Given the description of an element on the screen output the (x, y) to click on. 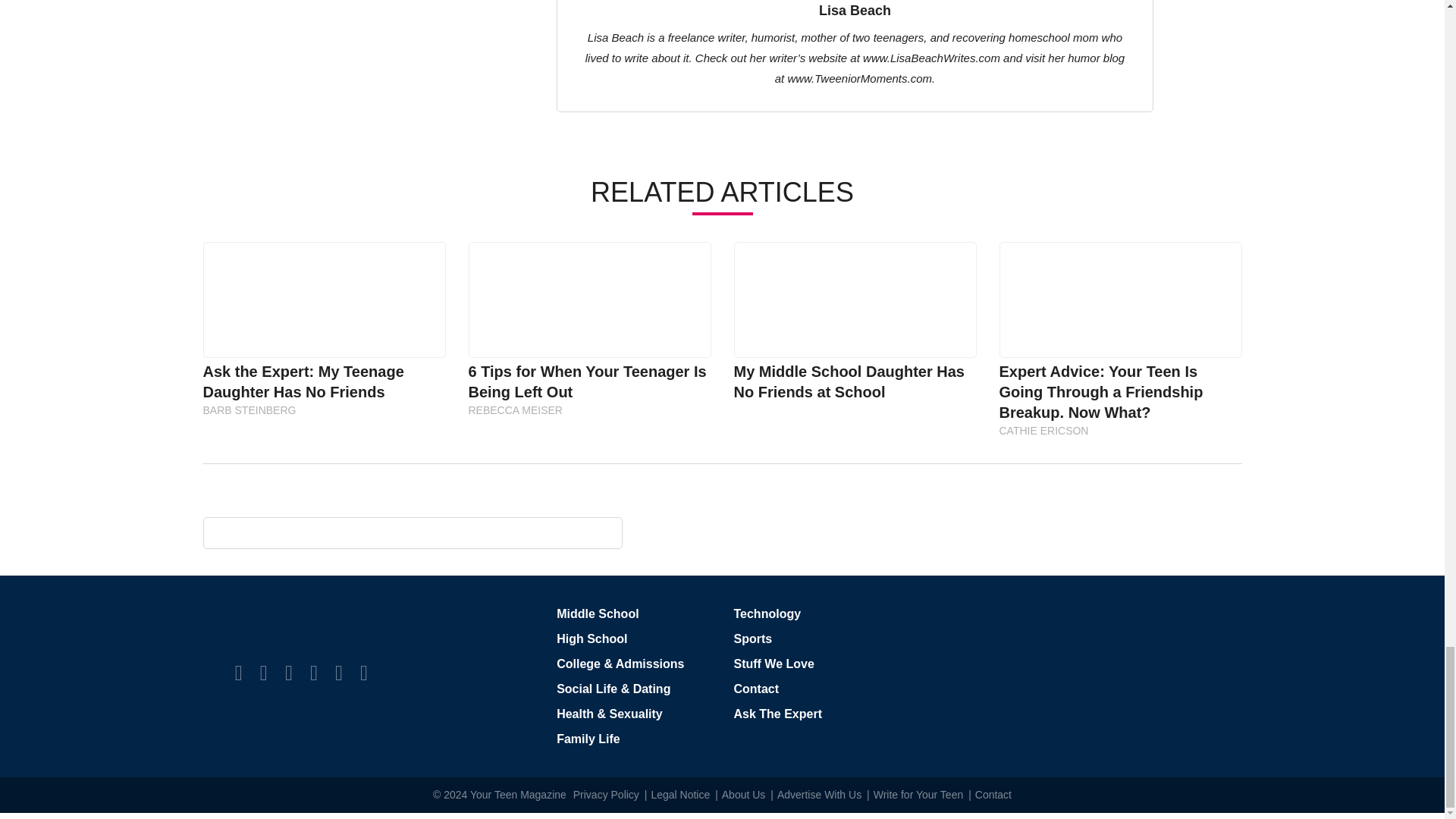
My Middle School Daughter Has No Friends at School (854, 299)
6 Tips for When Your Teenager Is Being Left Out (589, 299)
Ask the Expert: My Teenage Daughter Has No Friends (323, 299)
